Given the description of an element on the screen output the (x, y) to click on. 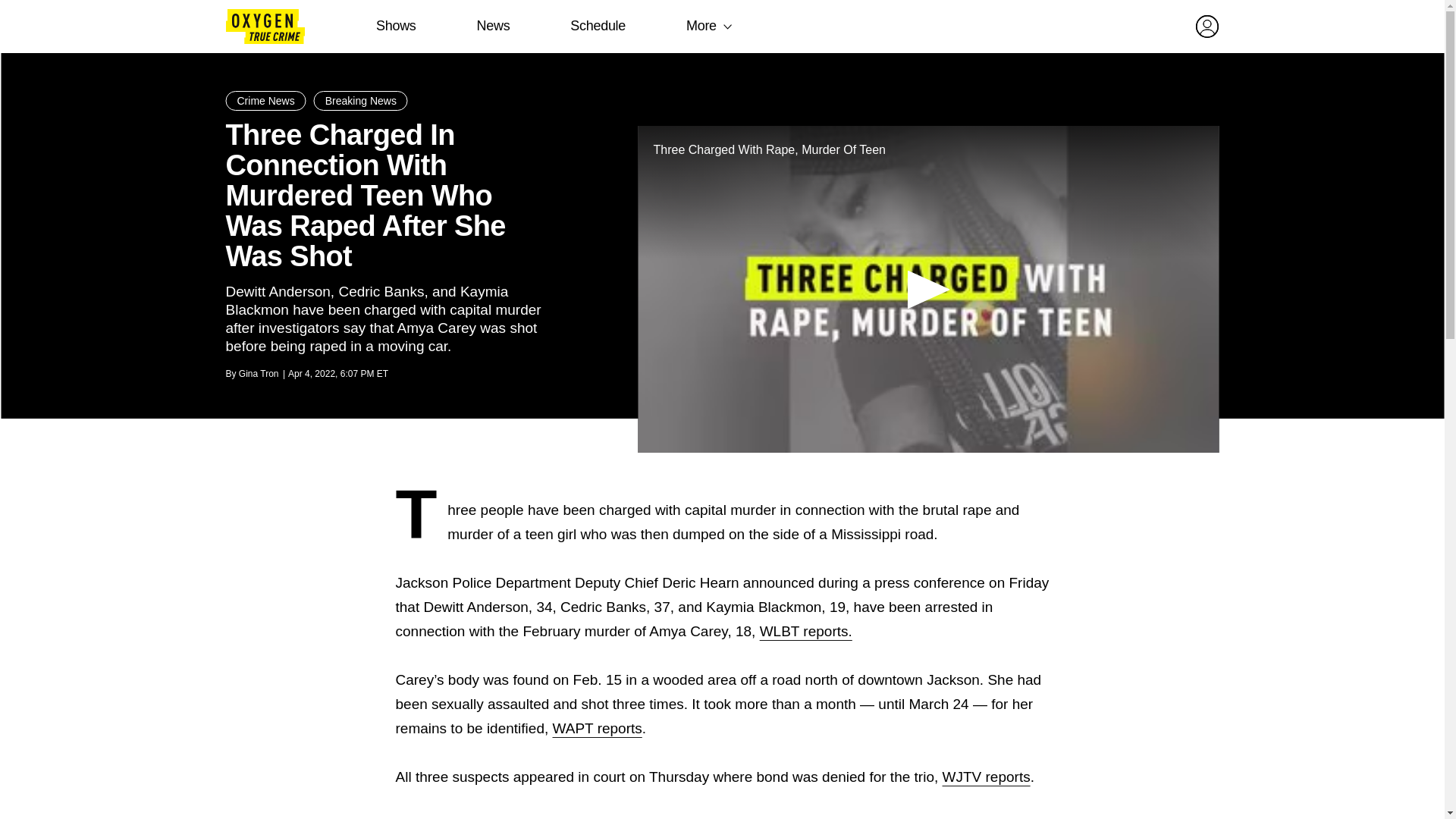
WLBT reports. (805, 631)
More (700, 26)
WAPT reports (597, 728)
Breaking News (360, 100)
Shows (395, 26)
Crime News (265, 100)
Gina Tron (258, 373)
WJTV reports (986, 776)
News (492, 26)
